Given the description of an element on the screen output the (x, y) to click on. 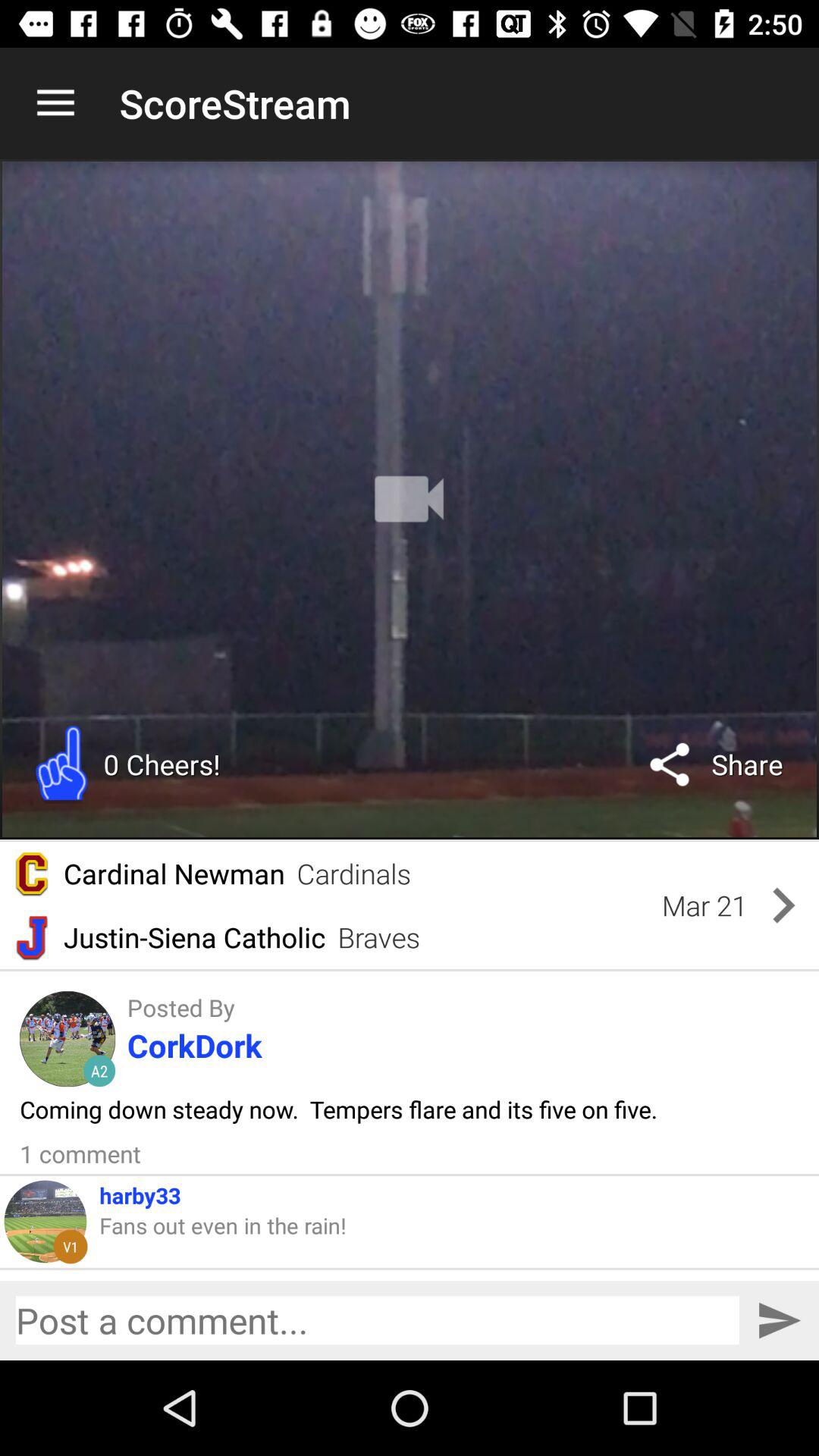
click cardinals item (353, 873)
